Given the description of an element on the screen output the (x, y) to click on. 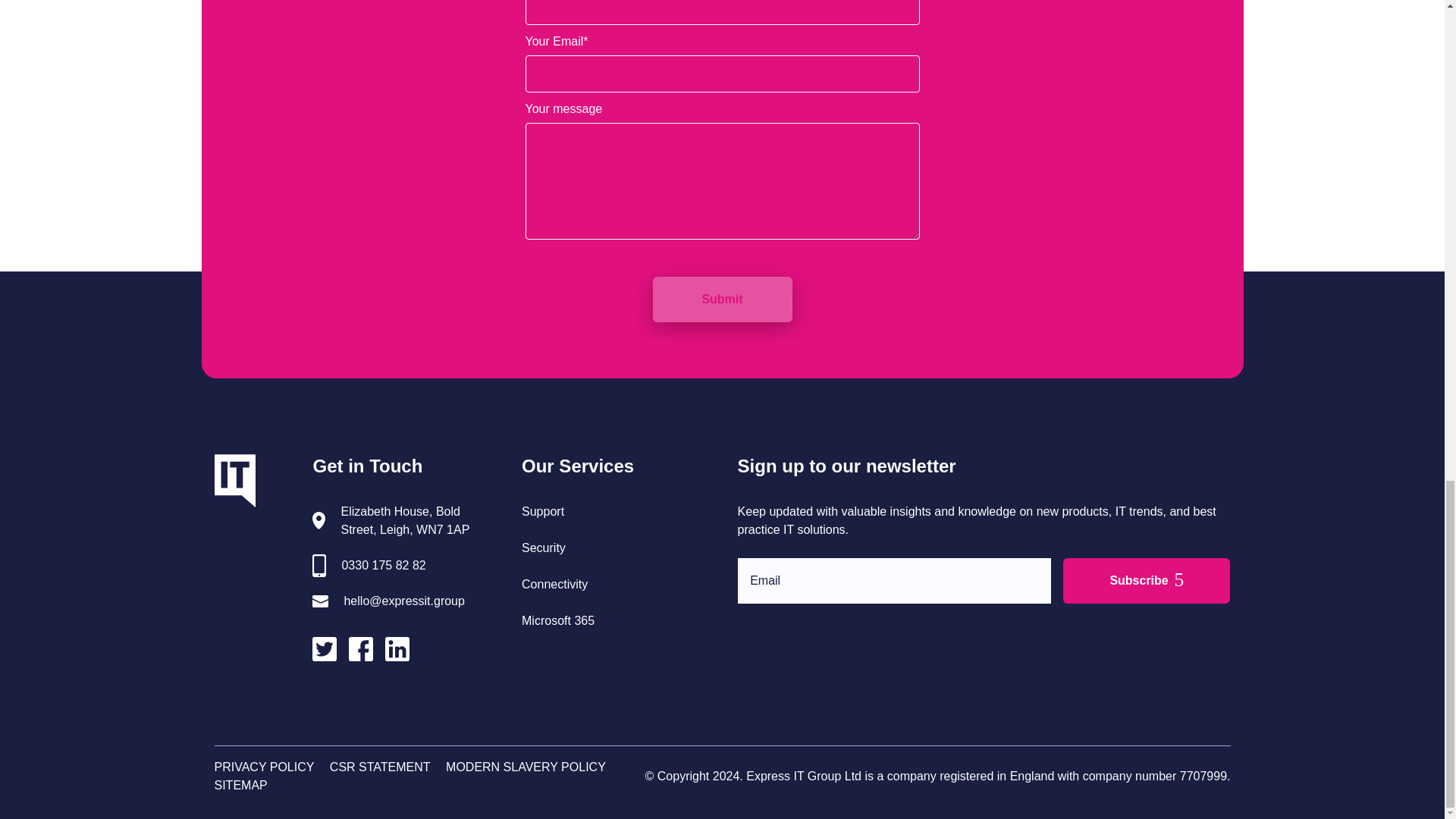
Facebook (367, 652)
Privacy Policy (264, 767)
Microsoft 365 (557, 620)
0330 175 82 82 (382, 565)
Submit (722, 299)
IT Security (543, 547)
IT Connectivity (554, 584)
Twitter (331, 651)
IT Support (542, 511)
Submit (722, 299)
ANTI-SLAVERY POLICY (525, 767)
PCSR STATEMENT (380, 767)
